Given the description of an element on the screen output the (x, y) to click on. 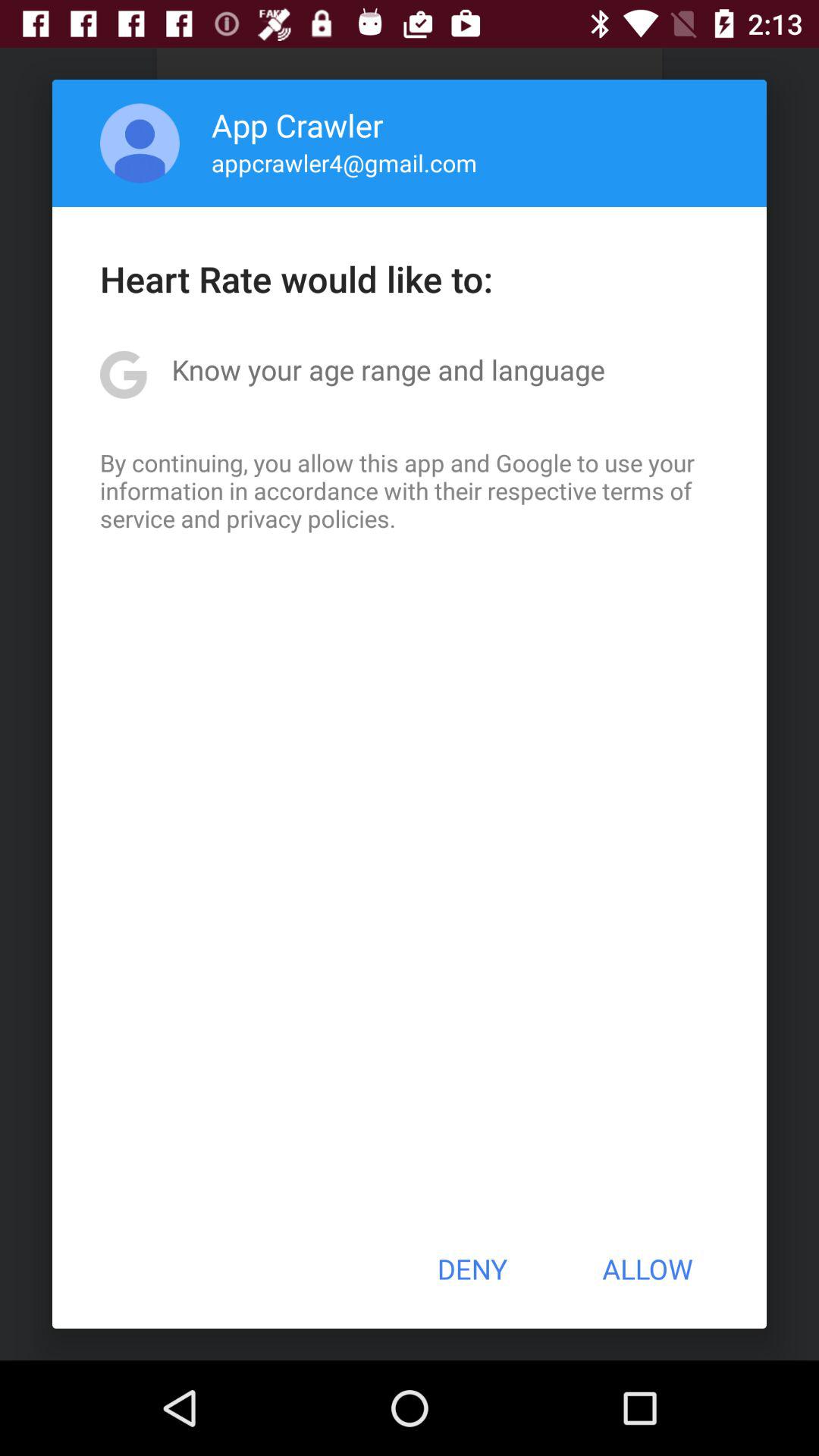
flip until appcrawler4@gmail.com icon (344, 162)
